Given the description of an element on the screen output the (x, y) to click on. 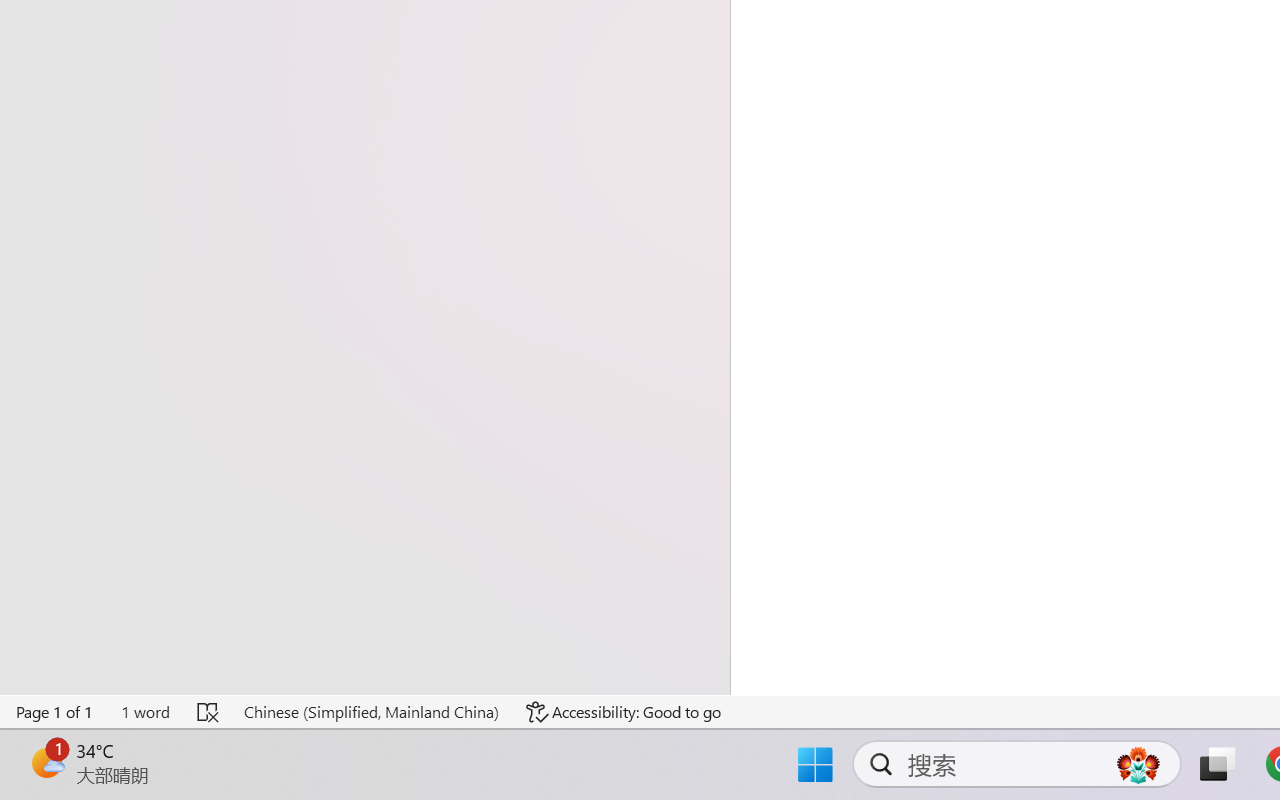
Spelling and Grammar Check Errors (208, 712)
Language Chinese (Simplified, Mainland China) (370, 712)
